Given the description of an element on the screen output the (x, y) to click on. 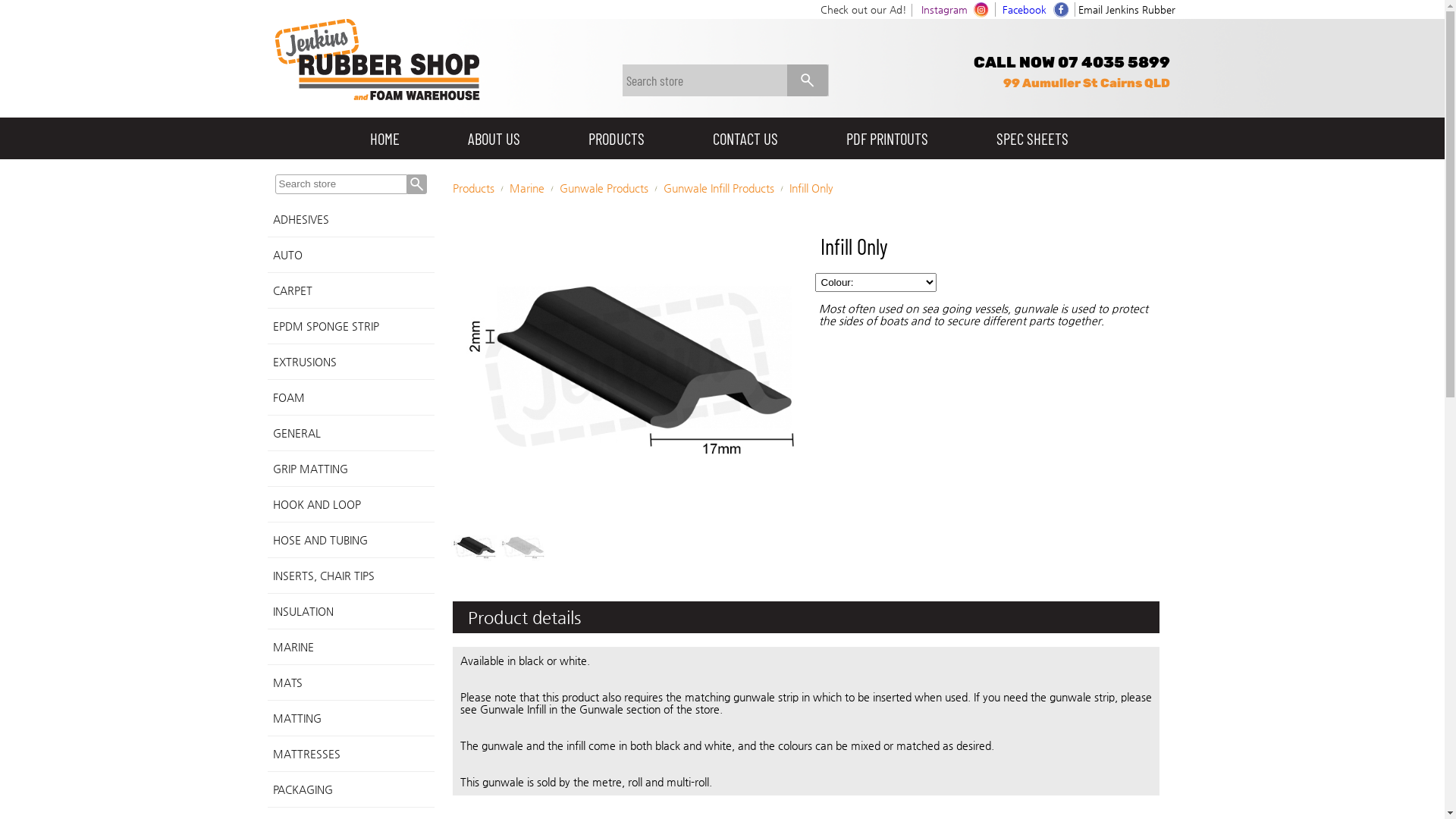
Email Jenkins Rubber Element type: text (1126, 9)
AUTO Element type: text (349, 255)
HOSE AND TUBING Element type: text (349, 540)
PRODUCTS Element type: text (615, 138)
GENERAL Element type: text (349, 433)
FOAM Element type: text (349, 397)
MATTRESSES Element type: text (349, 753)
Check out our Ad! Element type: text (863, 9)
EXTRUSIONS Element type: text (349, 361)
ABOUT US Element type: text (493, 138)
Gunwale Infill Products Element type: text (717, 188)
GRIP MATTING Element type: text (349, 468)
PDF PRINTOUTS Element type: text (886, 138)
Infill Only Element type: text (810, 188)
Products Element type: text (472, 188)
Infill Only Element type: hover (626, 369)
MARINE Element type: text (349, 647)
Instagram Element type: text (943, 9)
PACKAGING Element type: text (349, 789)
Facebook Element type: text (1024, 9)
MATTING Element type: text (349, 718)
ADHESIVES Element type: text (349, 219)
INSERTS, CHAIR TIPS Element type: text (349, 575)
Gunwale Products Element type: text (603, 188)
INSULATION Element type: text (349, 611)
EPDM SPONGE STRIP Element type: text (349, 326)
CARPET Element type: text (349, 290)
MATS Element type: text (349, 682)
CONTACT US Element type: text (744, 138)
SPEC SHEETS Element type: text (1031, 138)
CALL NOW 07 4035 5899 Element type: text (1071, 62)
HOME Element type: text (384, 138)
Marine Element type: text (526, 188)
HOOK AND LOOP Element type: text (349, 504)
99 Aumuller St Cairns QLD Element type: text (1085, 82)
